Given the description of an element on the screen output the (x, y) to click on. 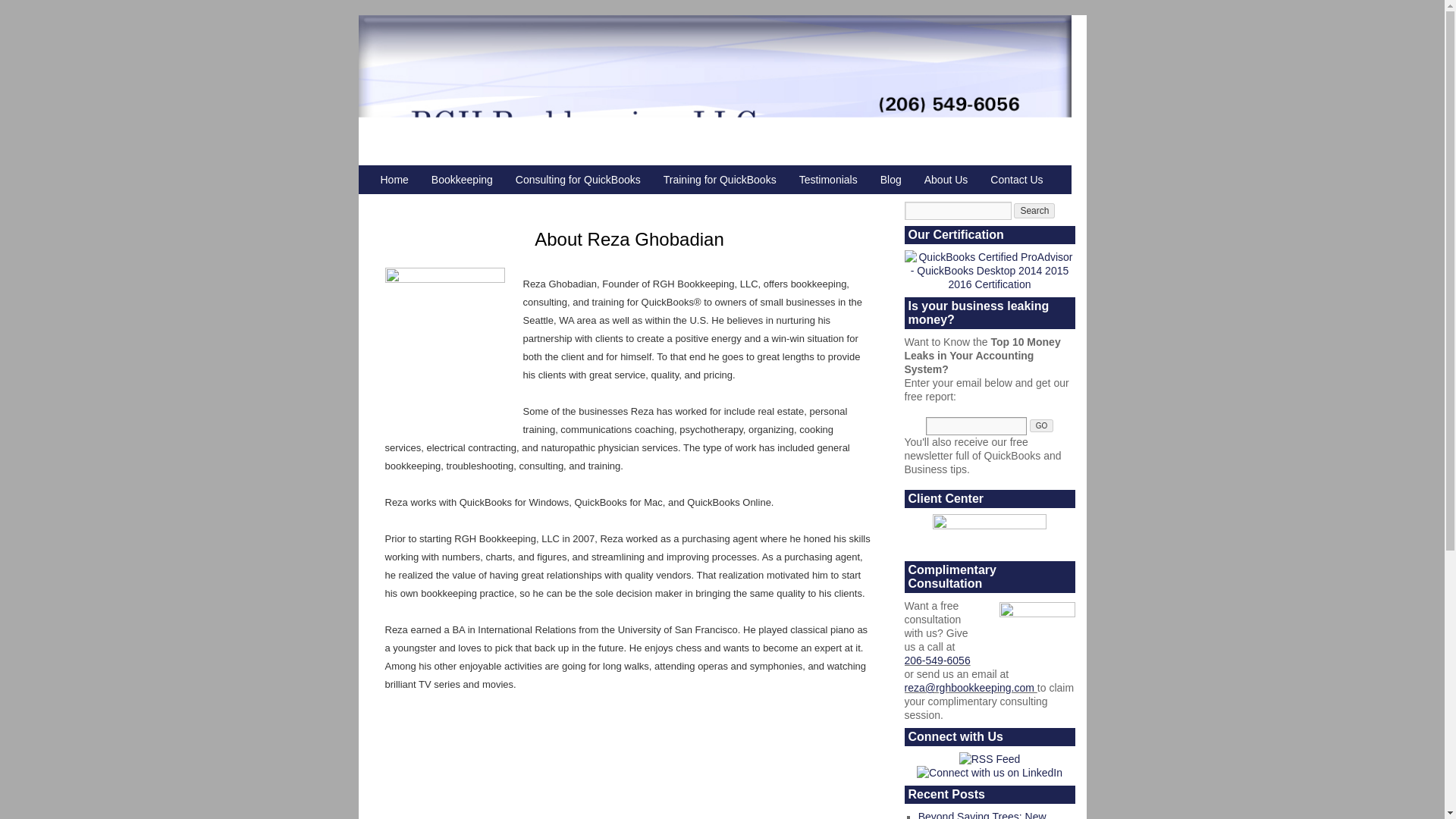
Search (1033, 210)
GO (1041, 425)
Blog (890, 179)
About Us (945, 179)
206-549-6056 (936, 660)
Connect with us on LinkedIn (989, 772)
Consulting for QuickBooks (577, 179)
Bookkeeping (461, 179)
Client Portal button (989, 534)
Contact Us (1016, 179)
